Given the description of an element on the screen output the (x, y) to click on. 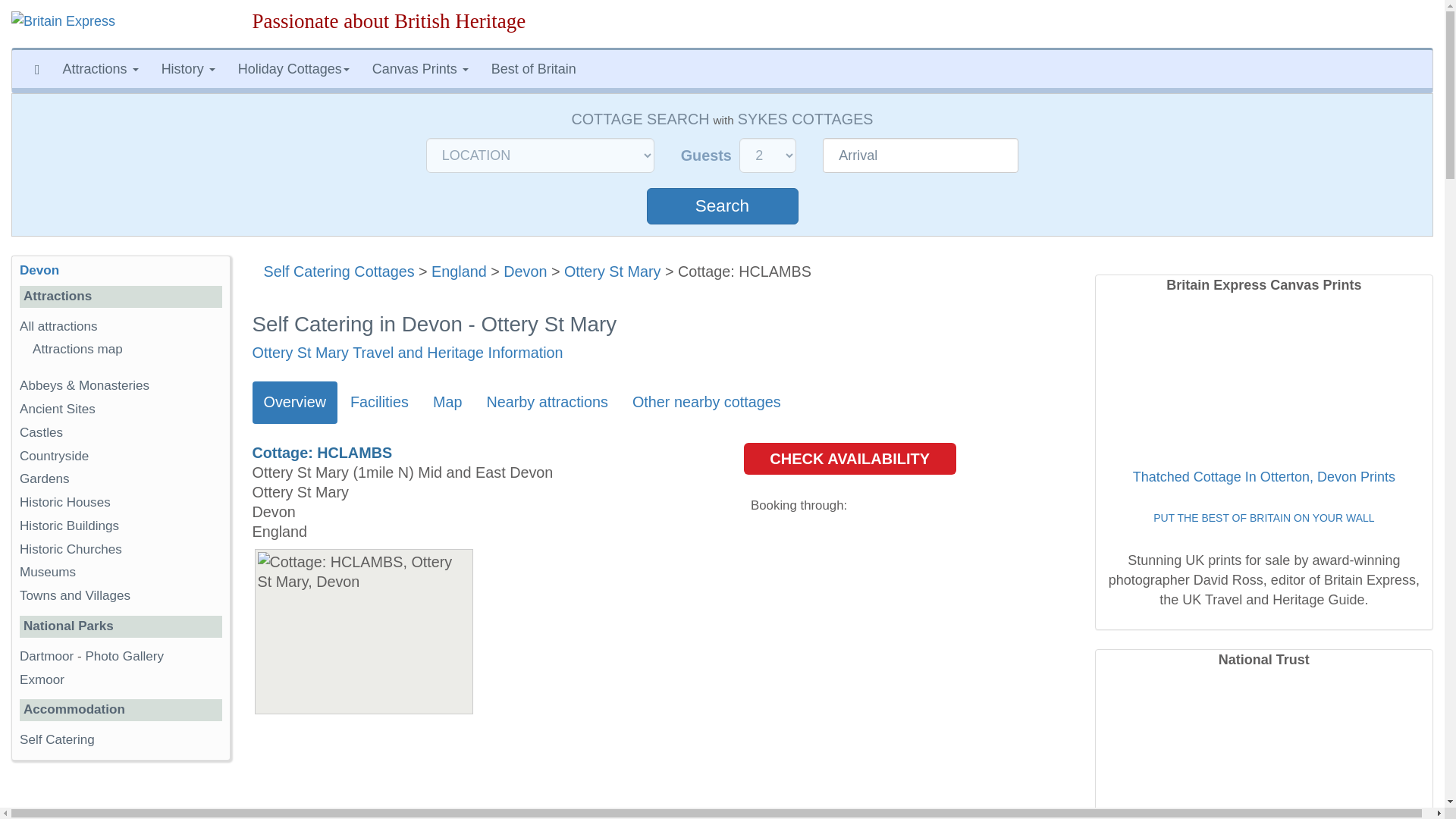
Britain Express home page (120, 23)
Facilities (379, 402)
Best of Britain (534, 68)
Arrival (919, 155)
Attractions (99, 68)
Ottery St Mary (612, 271)
Canvas Prints (420, 68)
Ottery St Mary Travel and Heritage Information (406, 352)
Self Catering Cottages (338, 271)
Overview (293, 402)
